Given the description of an element on the screen output the (x, y) to click on. 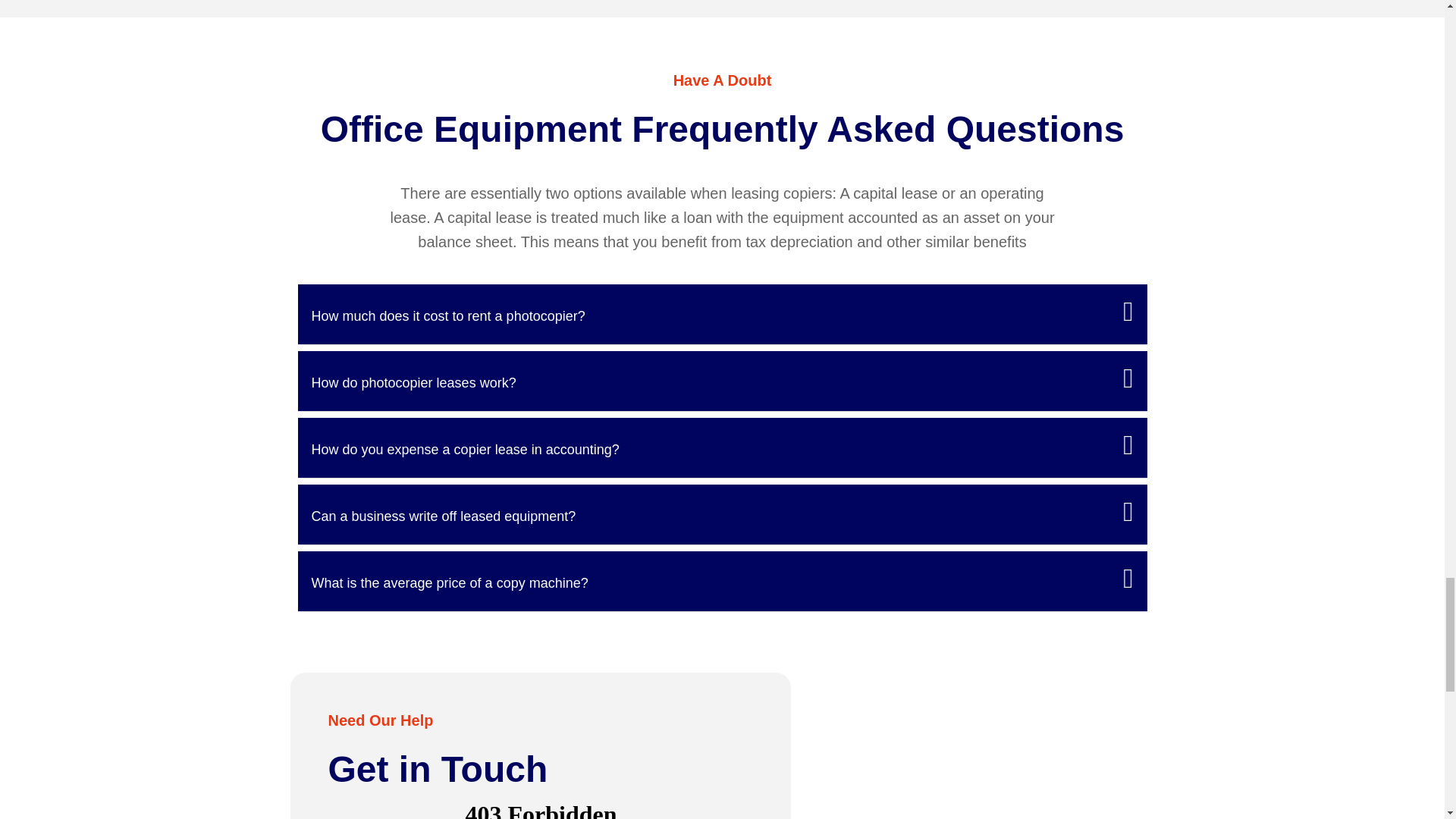
Texas (983, 745)
How much does it cost to rent a photocopier? (448, 315)
Quote Form (541, 806)
